Given the description of an element on the screen output the (x, y) to click on. 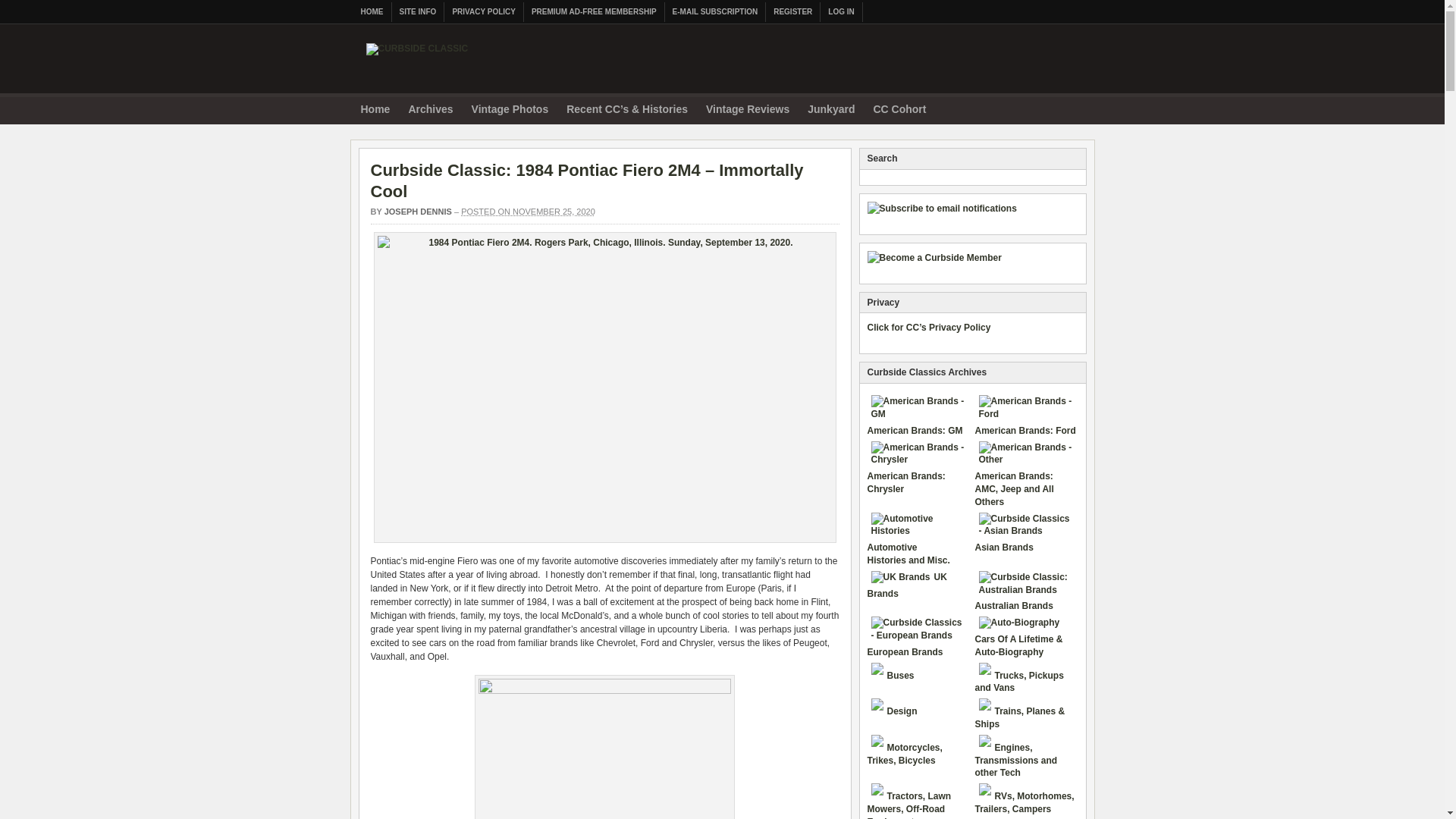
Vintage Photos (510, 110)
Home (375, 110)
Curbside Classic (416, 56)
HOME (372, 12)
Joseph Dennis (417, 211)
REGISTER (793, 12)
2020-11-25T01:00:18-08:00 (528, 211)
E-MAIL SUBSCRIPTION (716, 12)
PREMIUM AD-FREE MEMBERSHIP (594, 12)
PRIVACY POLICY (484, 12)
Curbside Classic RSS Feed (1078, 108)
Archives (429, 110)
LOG IN (841, 12)
SITE INFO (417, 12)
